Given the description of an element on the screen output the (x, y) to click on. 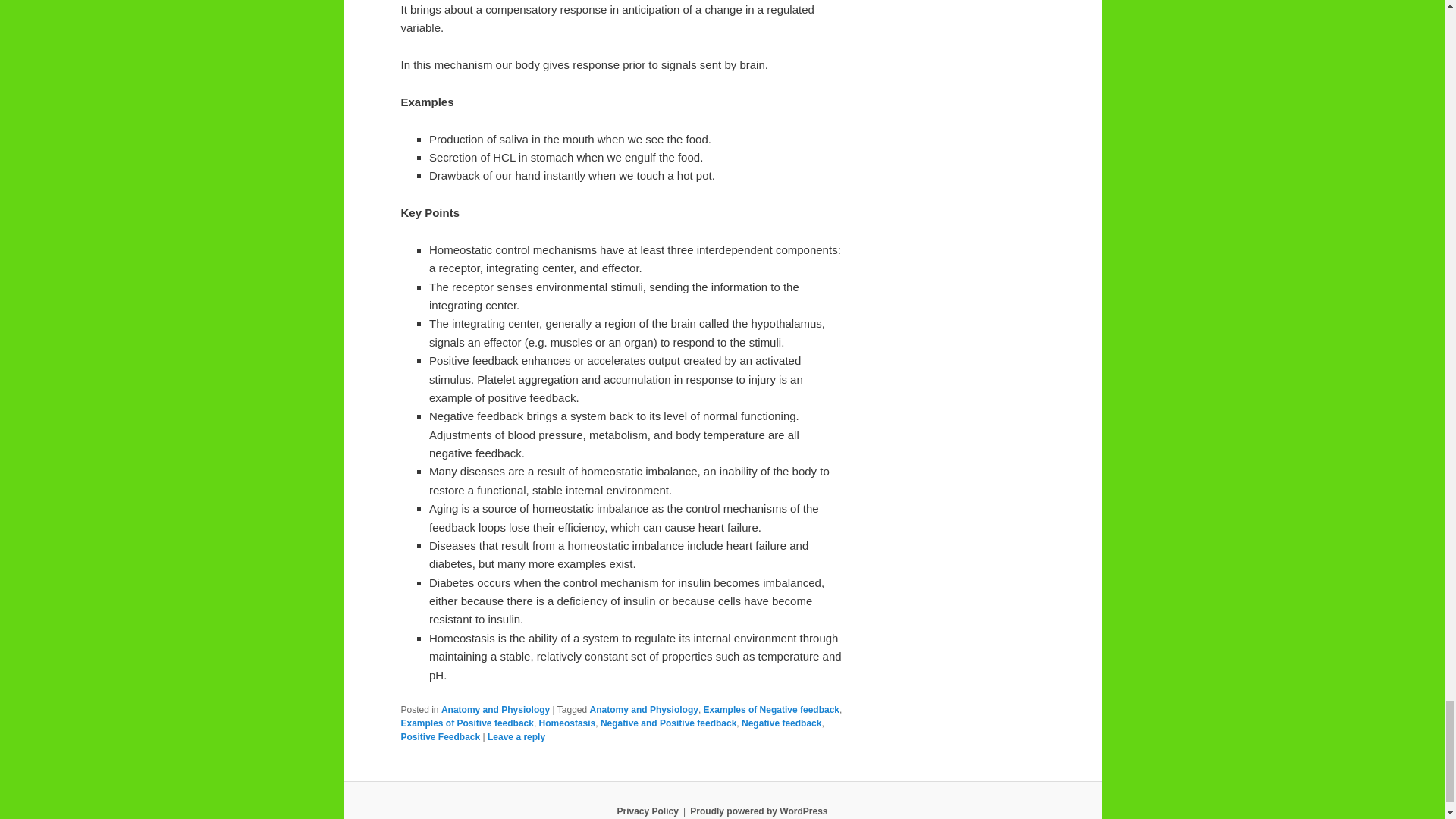
Negative and Positive feedback (667, 723)
Examples of Positive feedback (466, 723)
Leave a reply (515, 737)
Anatomy and Physiology (495, 709)
Positive Feedback (440, 737)
Anatomy and Physiology (643, 709)
Examples of Negative feedback (771, 709)
Semantic Personal Publishing Platform (758, 810)
Homeostasis (566, 723)
Negative feedback (781, 723)
